Given the description of an element on the screen output the (x, y) to click on. 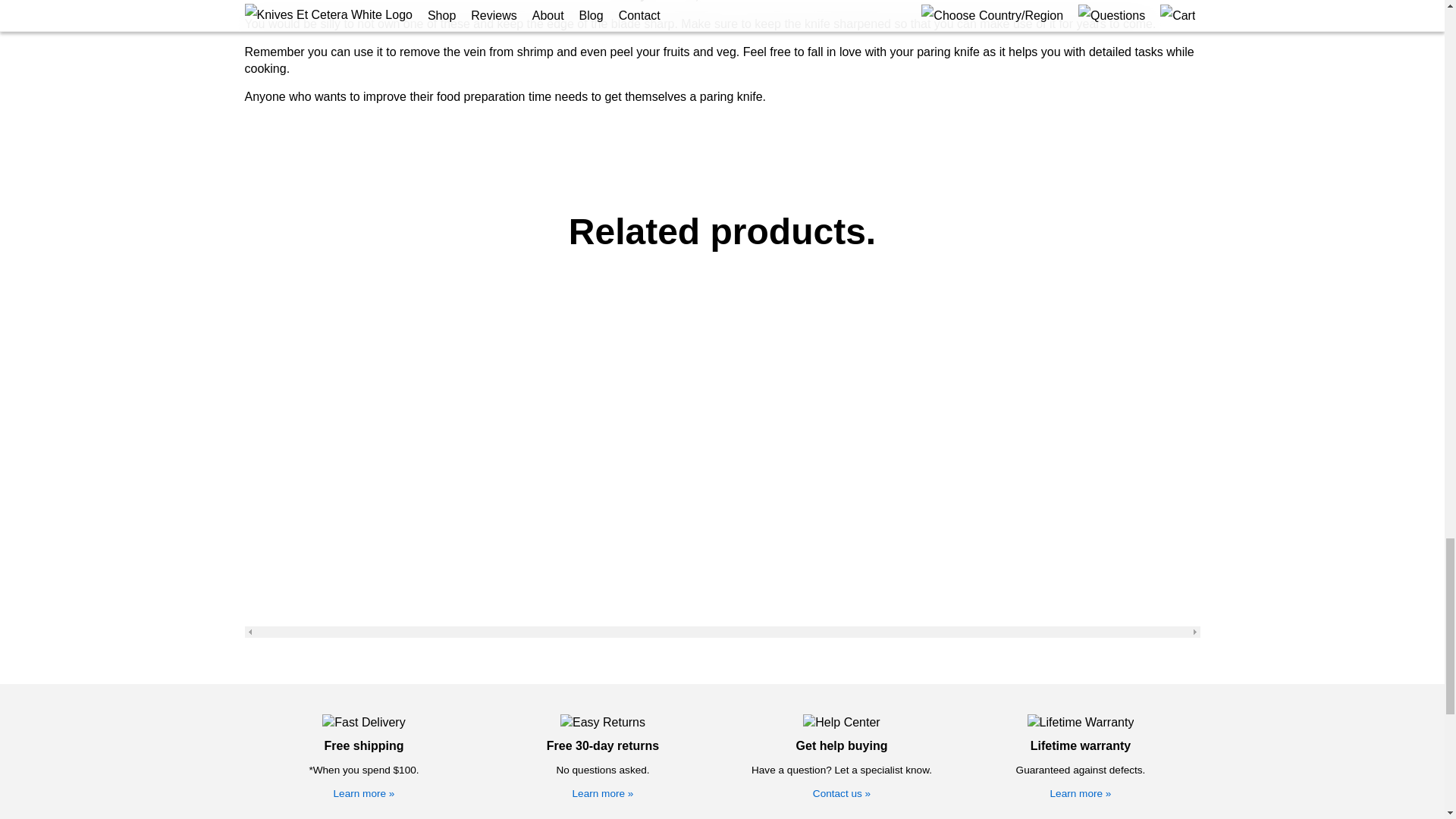
Fast Delivery (362, 382)
Vegetable Cleaver (292, 592)
Instagram (1096, 655)
Wooden Knife Sheath (574, 592)
Steak Knife (292, 613)
Serrated Bread Knife (292, 656)
Pinterest (1094, 698)
Terms of Use (857, 550)
Come Apart Stainless Steel Kitchen Shears (574, 571)
Utility Knife (292, 571)
TikTok (1088, 676)
Facebook (1096, 634)
Paring Knife (292, 635)
Chef's Knife (292, 528)
